Given the description of an element on the screen output the (x, y) to click on. 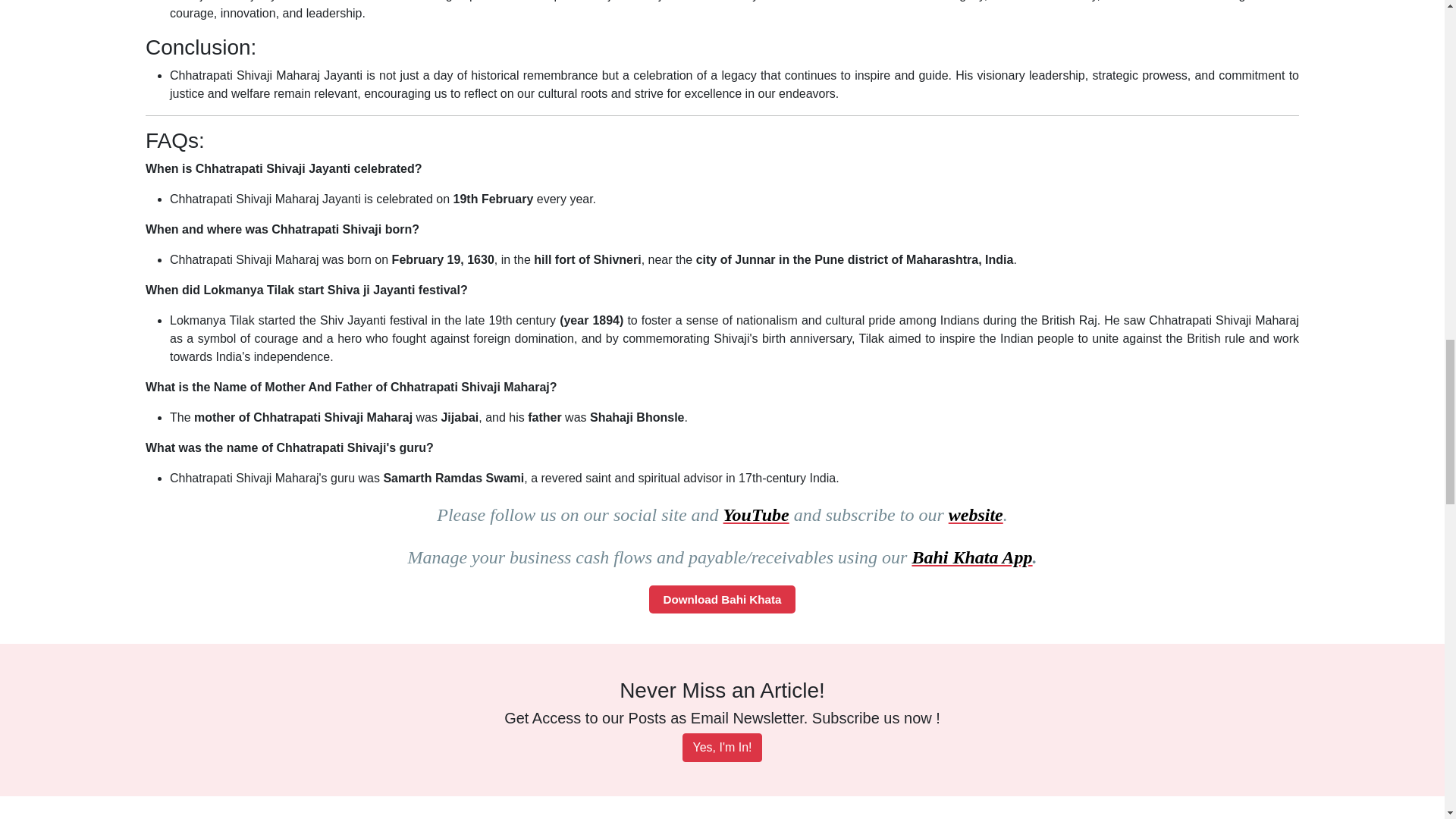
YouTube (756, 514)
Bahi Khata App (971, 557)
Yes, I'm In! (721, 747)
website (976, 514)
Download Bahi Khata (721, 598)
